Given the description of an element on the screen output the (x, y) to click on. 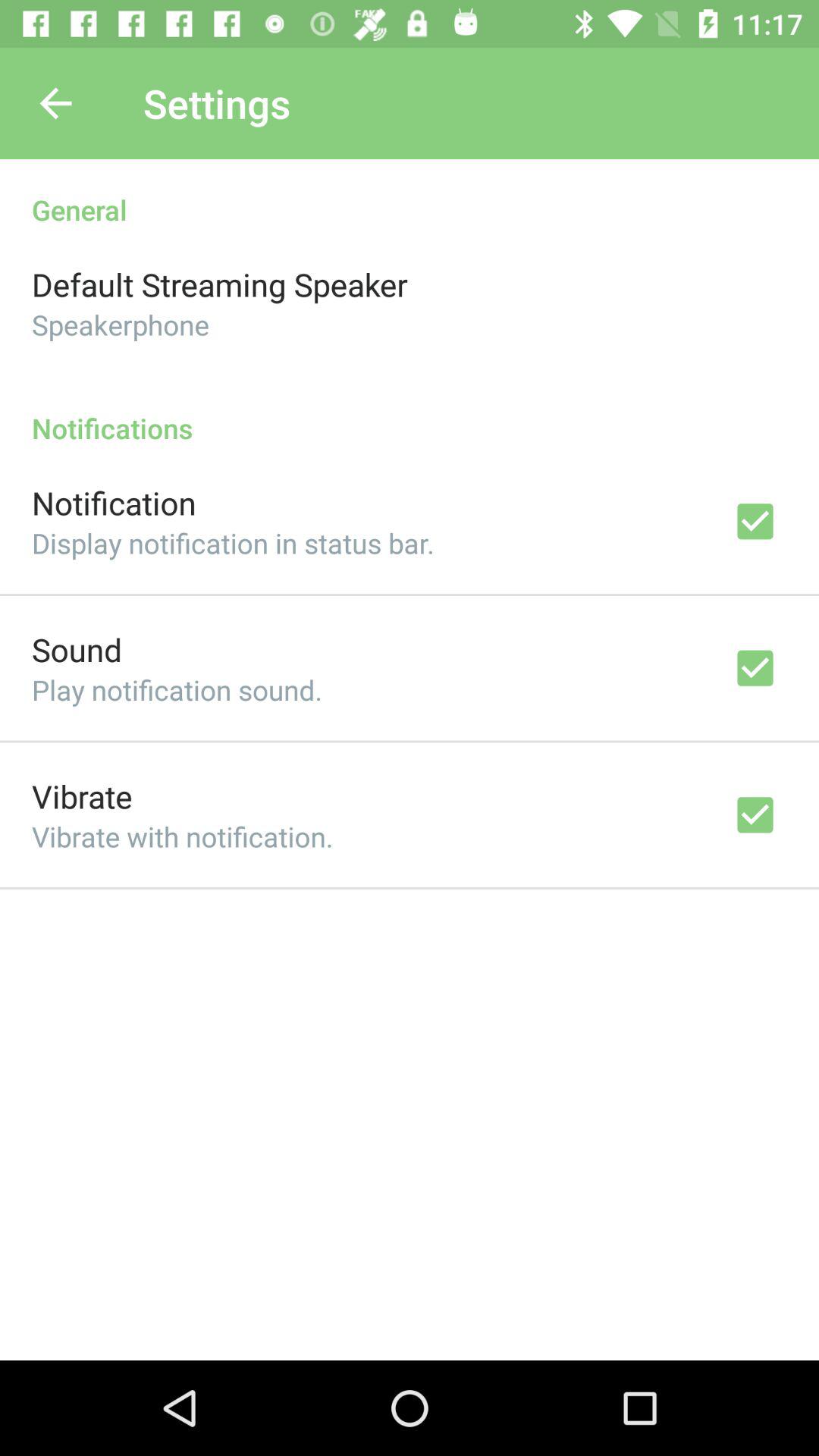
select the icon below sound (176, 689)
